Given the description of an element on the screen output the (x, y) to click on. 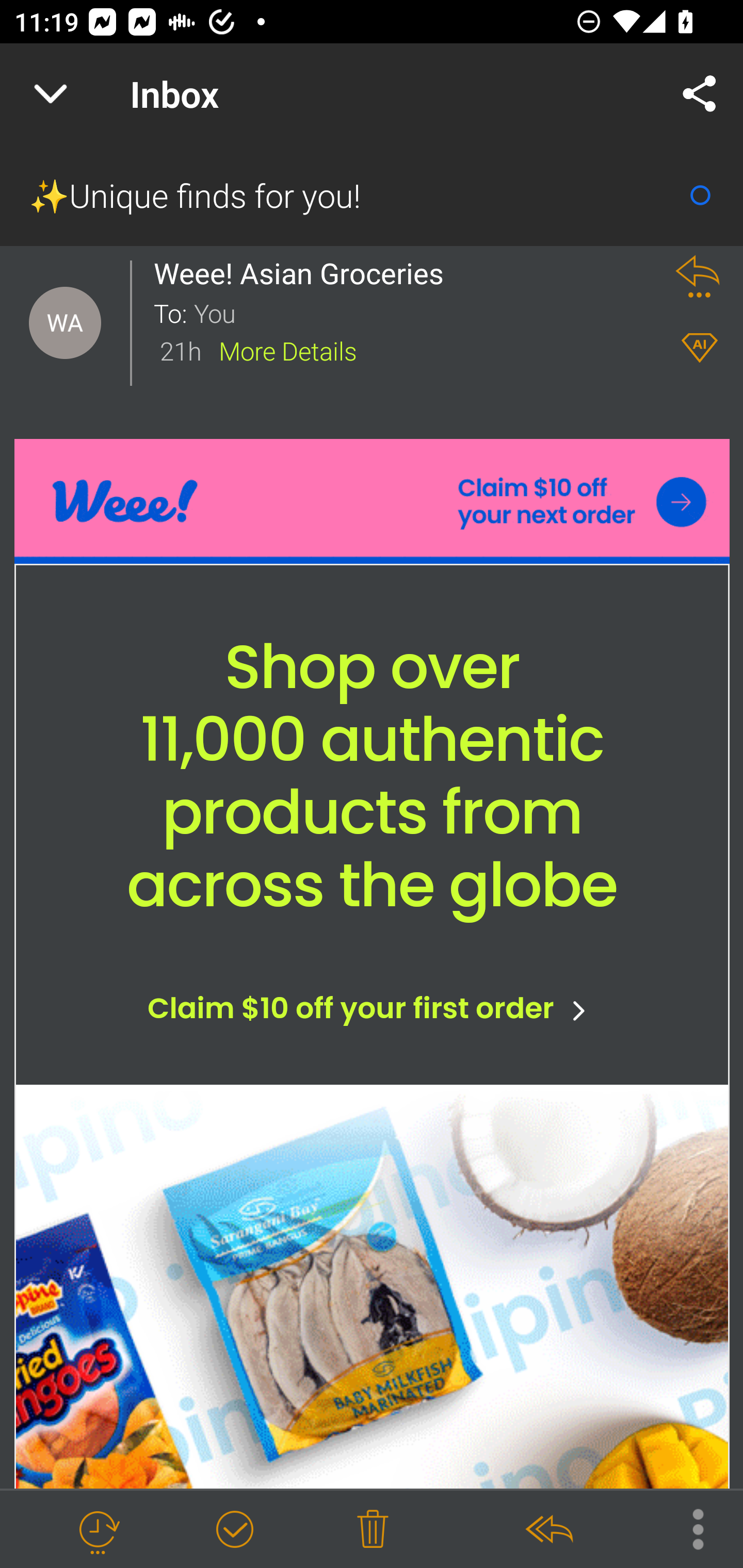
Navigate up (50, 93)
Share (699, 93)
Mark as Read (699, 194)
Weee! Asian Groceries (303, 273)
Contact Details (64, 322)
You (422, 311)
3 Weee! & You (370, 361)
click?upn=u001 (372, 500)
Load more (371, 1001)
More Options (687, 1528)
Snooze (97, 1529)
Mark as Done (234, 1529)
Delete (372, 1529)
Reply All (548, 1529)
